Given the description of an element on the screen output the (x, y) to click on. 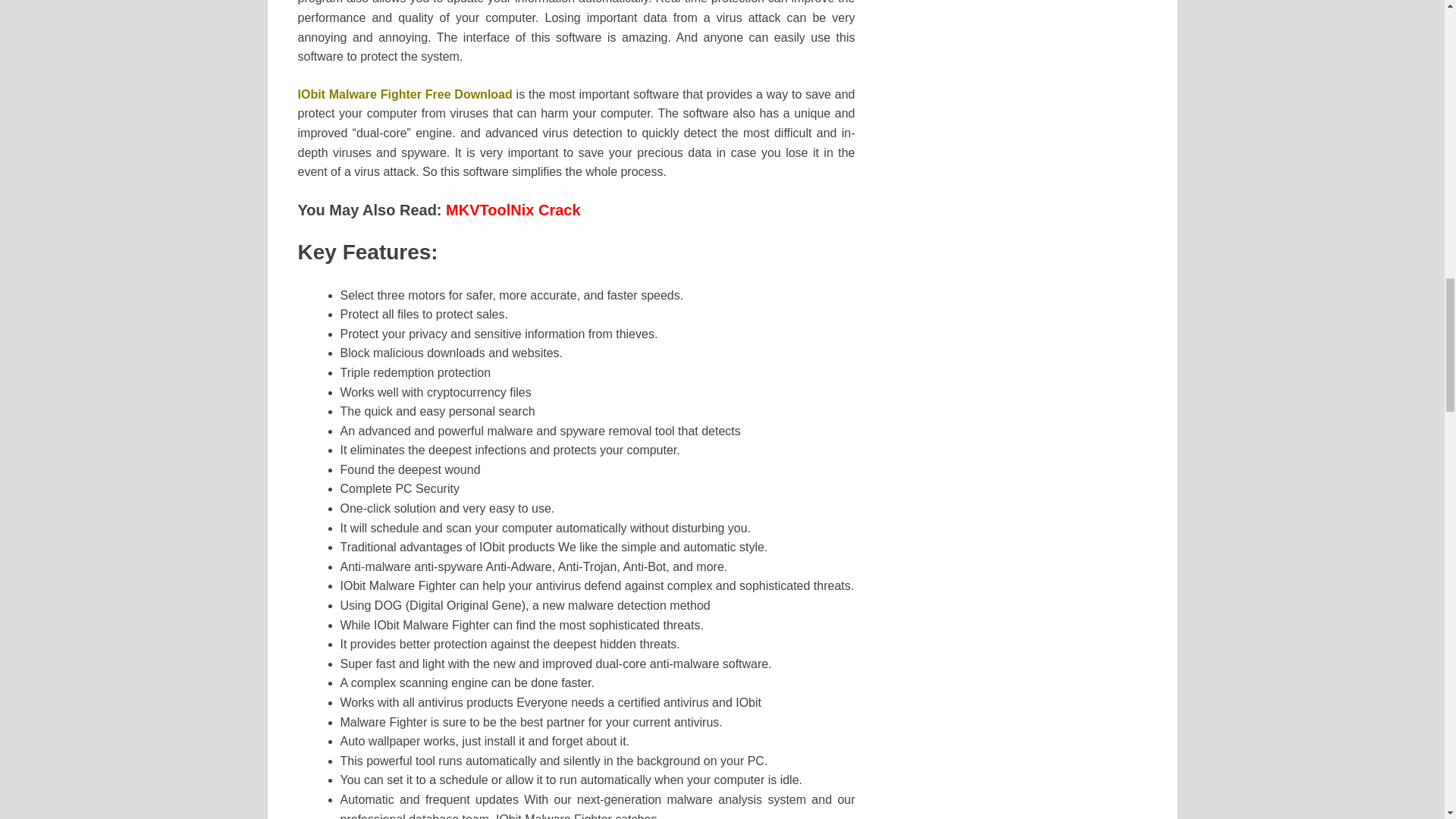
MKVToolNix Crack (512, 209)
IObit Malware Fighter Free Download (404, 93)
